Given the description of an element on the screen output the (x, y) to click on. 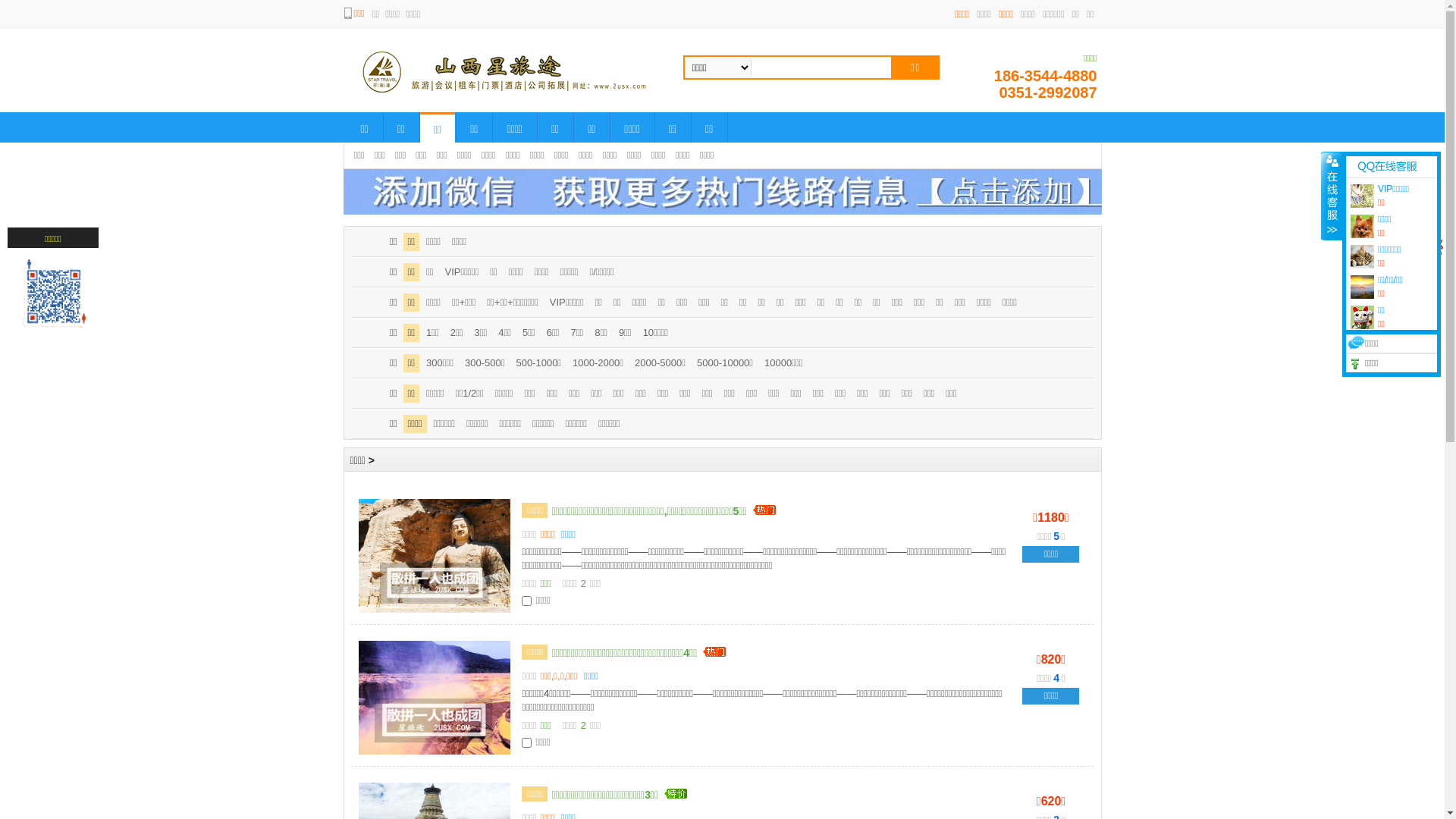
0 Element type: text (1424, 246)
